Given the description of an element on the screen output the (x, y) to click on. 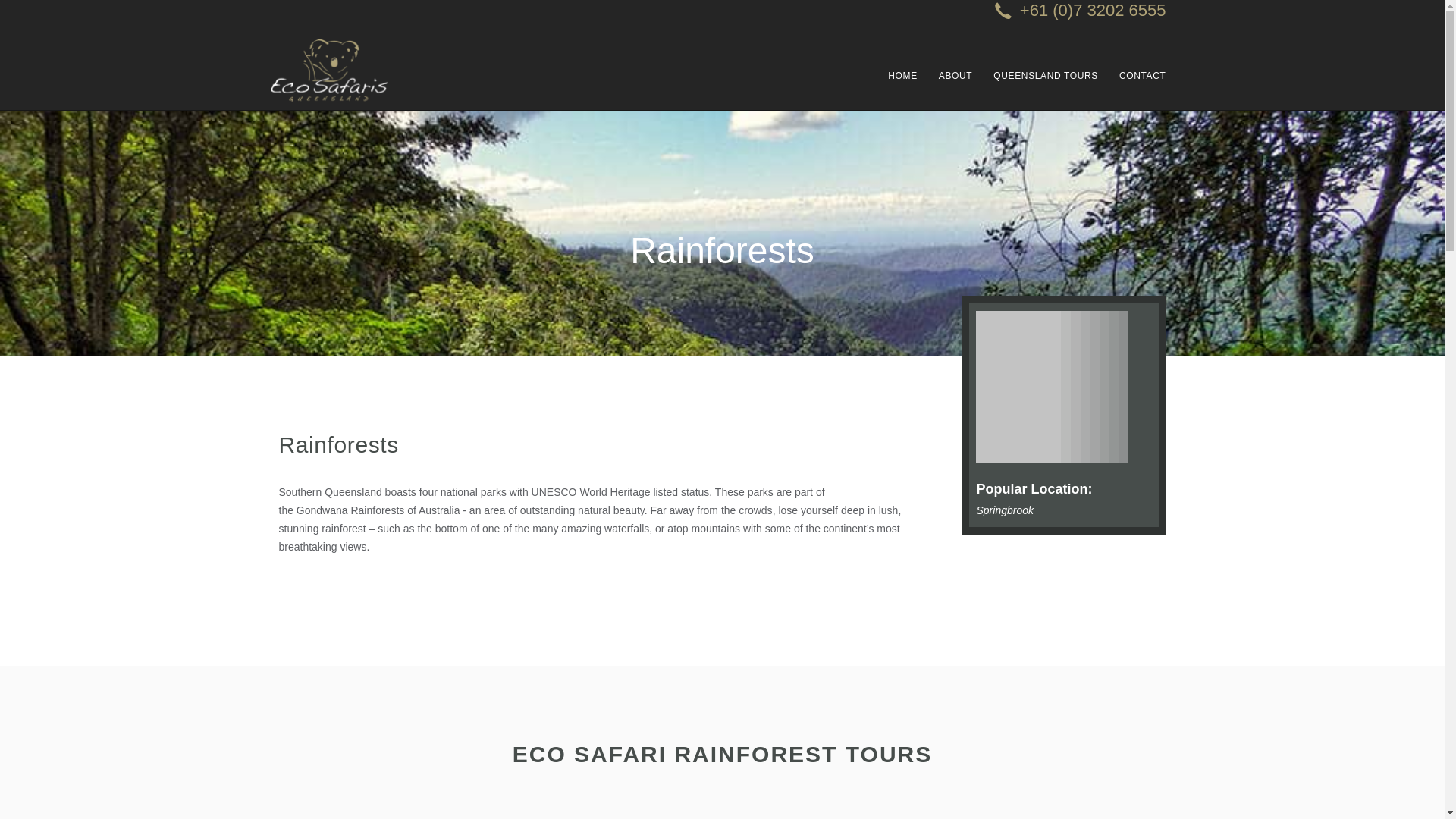
+61 (0)7 3202 6555 Element type: text (1080, 9)
QUEENSLAND TOURS Element type: text (1045, 95)
CONTACT Element type: text (1142, 95)
ABOUT Element type: text (955, 95)
HOME Element type: text (902, 95)
